Given the description of an element on the screen output the (x, y) to click on. 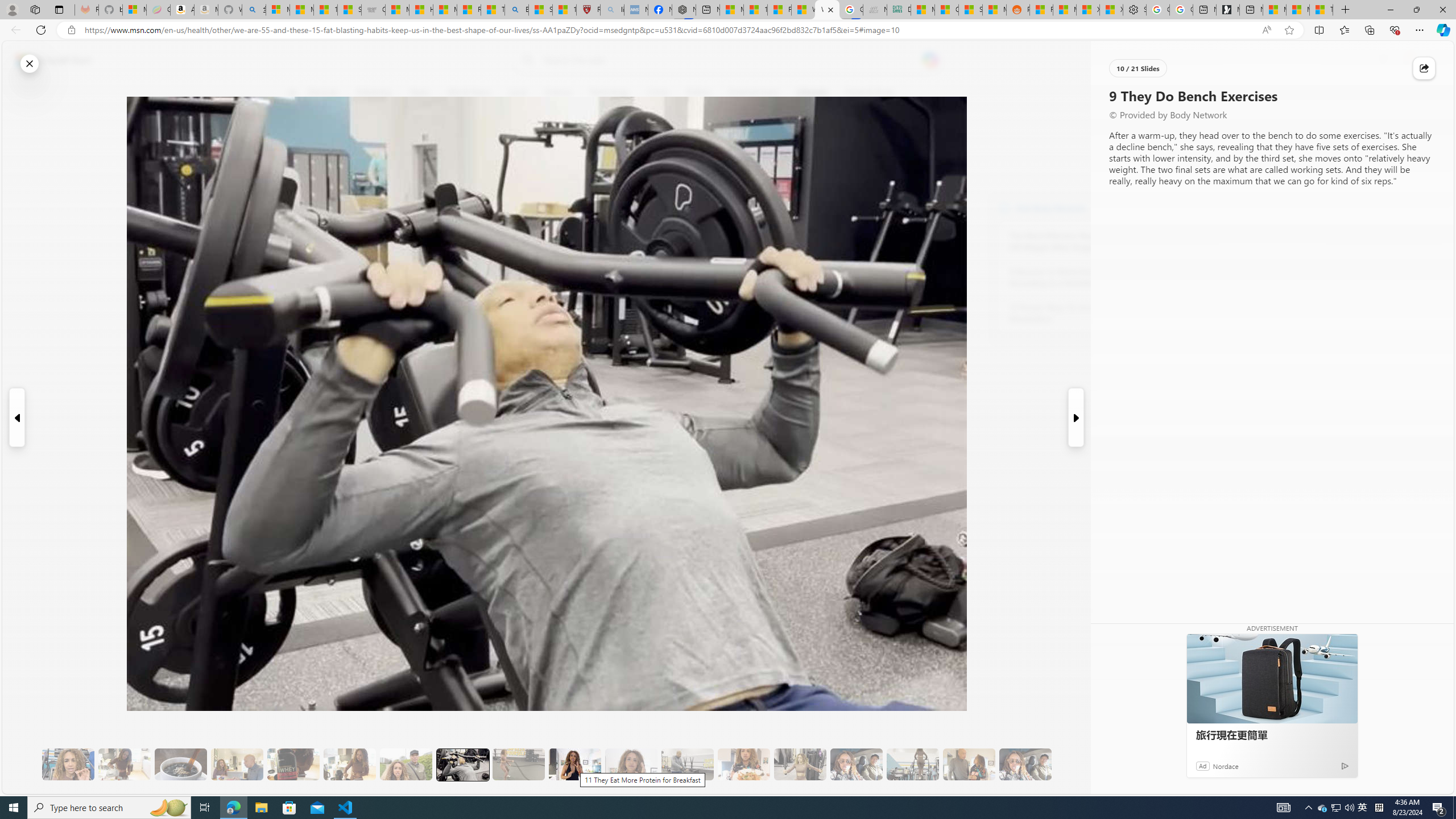
7 They Don't Skip Meals (349, 764)
Share this story (1423, 67)
18 It's More Fun Doing It with Someone Else (968, 764)
11 They Eat More Protein for Breakfast (574, 764)
8 Be Mindful of Coffee (180, 764)
12 Popular Science Lies that Must be Corrected (563, 9)
Next Slide (1076, 417)
7 They Don't Skip Meals (349, 764)
8 Be Mindful of Coffee (180, 764)
